Given the description of an element on the screen output the (x, y) to click on. 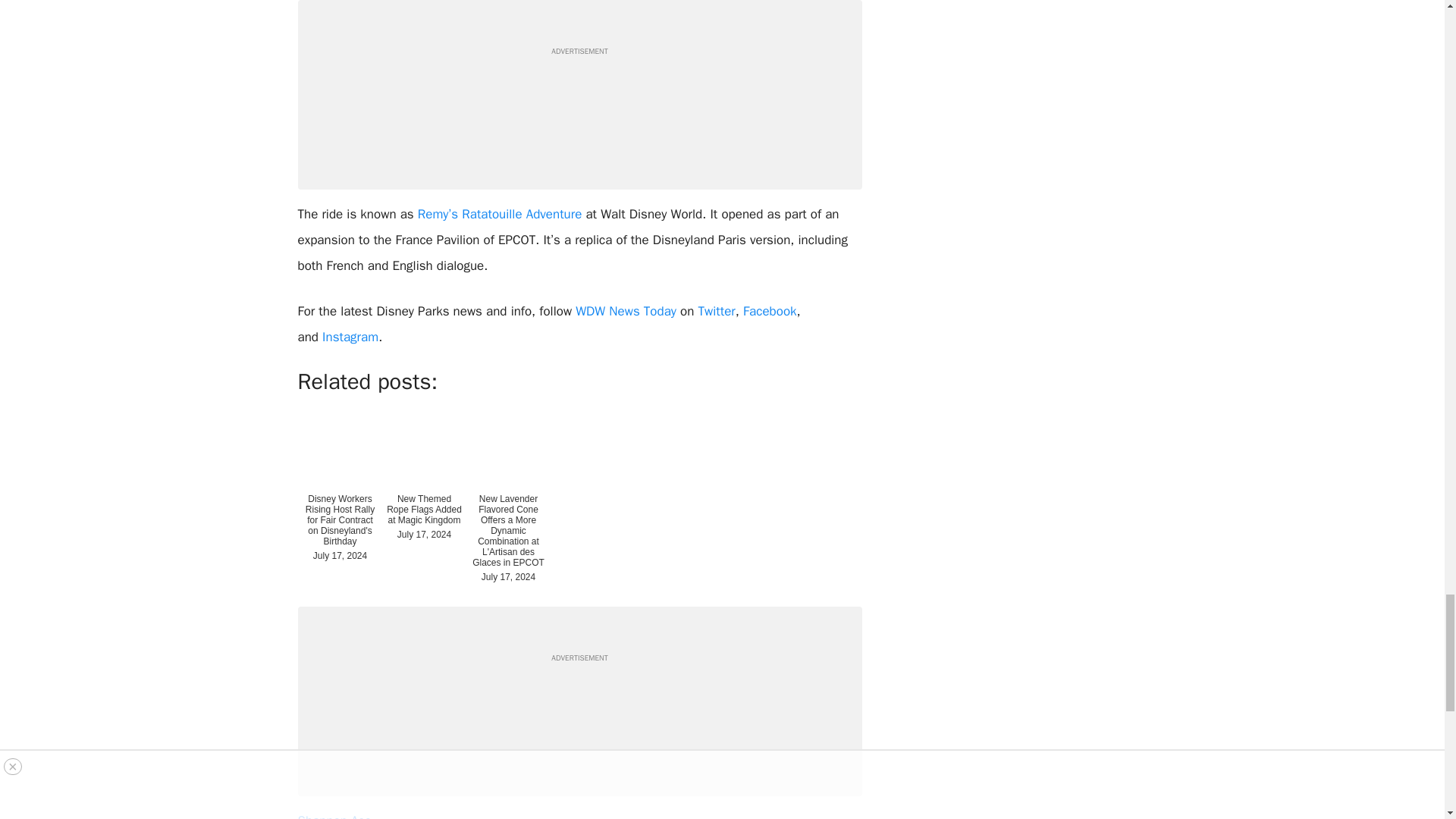
Shannen Ace (334, 816)
